Given the description of an element on the screen output the (x, y) to click on. 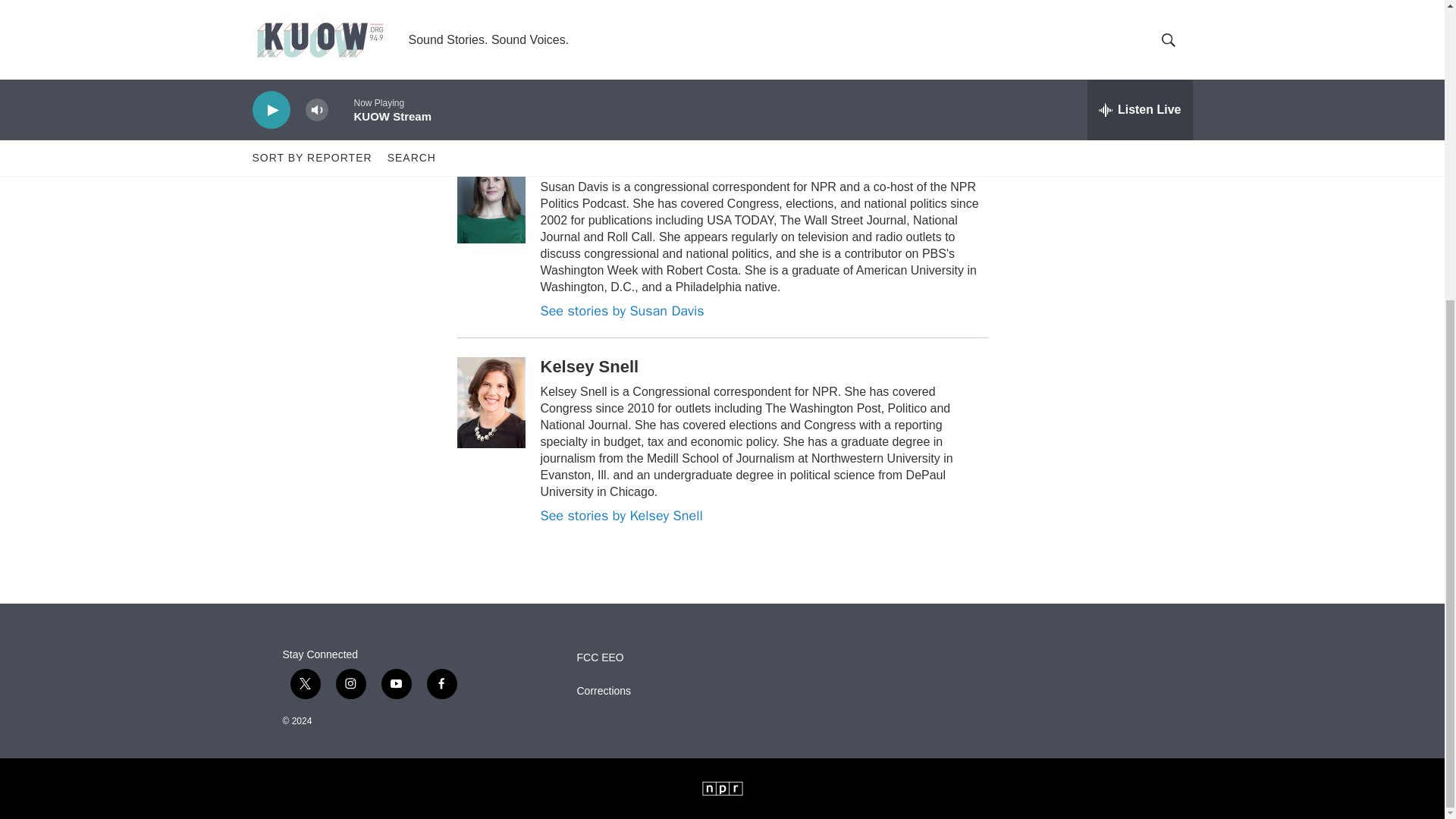
Kelsey Snell (408, 11)
Email (1162, 26)
Corrections (668, 691)
Twitter (468, 110)
Twitter (1109, 26)
youtube (395, 684)
Susan Davis (589, 161)
twitter (304, 684)
LinkedIn (1135, 26)
FCC EEO (668, 657)
